Given the description of an element on the screen output the (x, y) to click on. 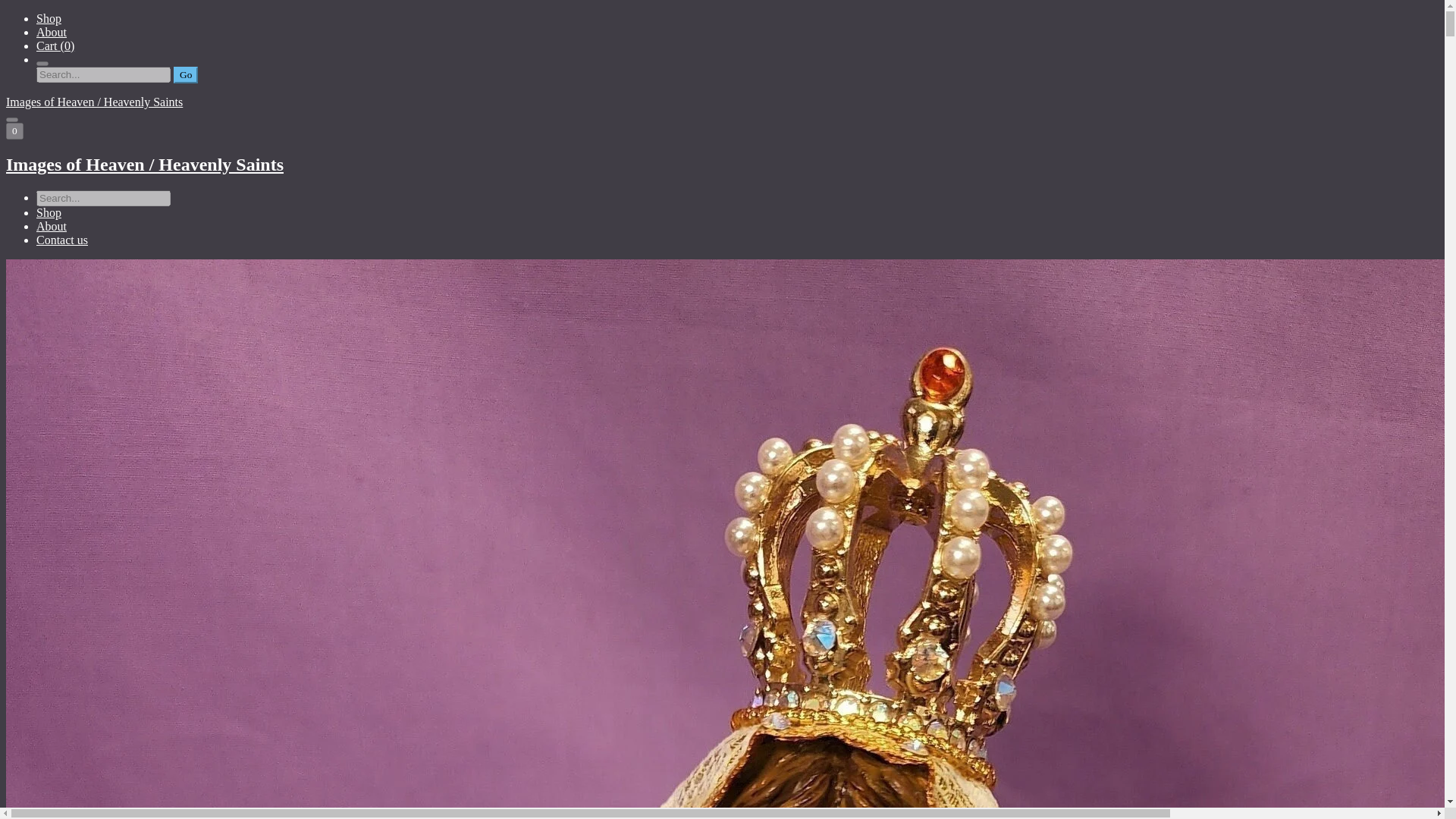
Go (185, 74)
About (51, 31)
0 (14, 130)
Shop (48, 18)
Shop (48, 212)
About (51, 226)
Go (185, 74)
Contact us (61, 239)
